Given the description of an element on the screen output the (x, y) to click on. 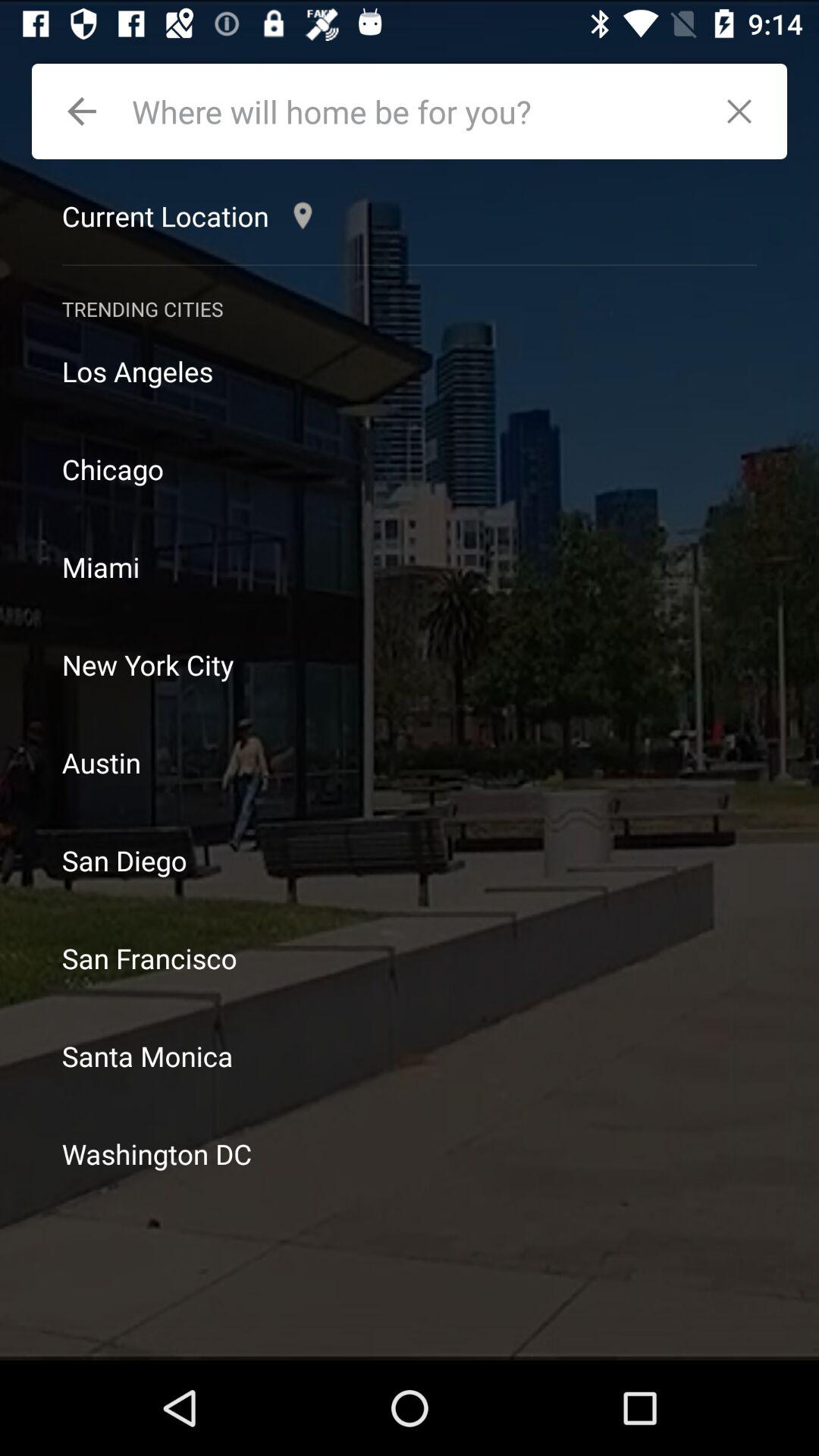
press item above the santa monica item (409, 958)
